Given the description of an element on the screen output the (x, y) to click on. 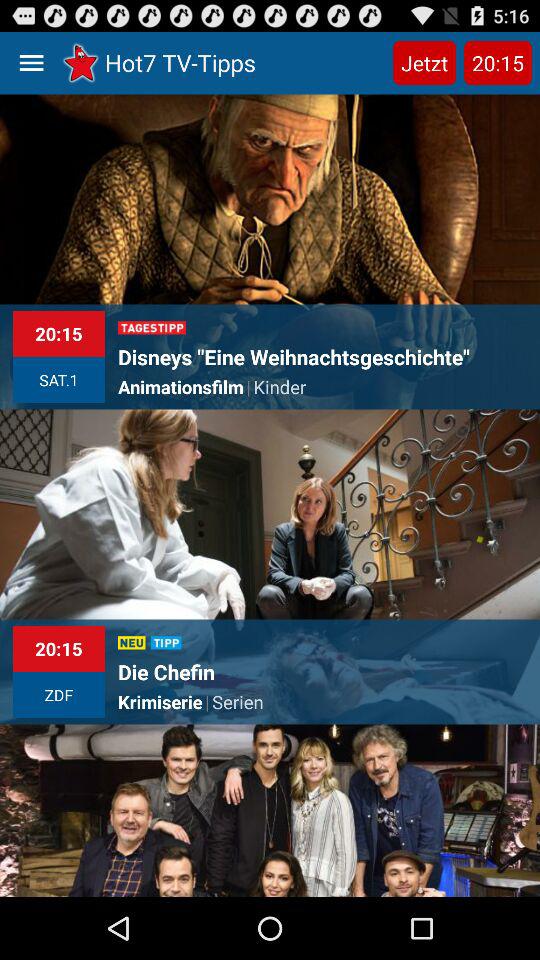
select app to the right of hot7 tv-tipps item (424, 62)
